Given the description of an element on the screen output the (x, y) to click on. 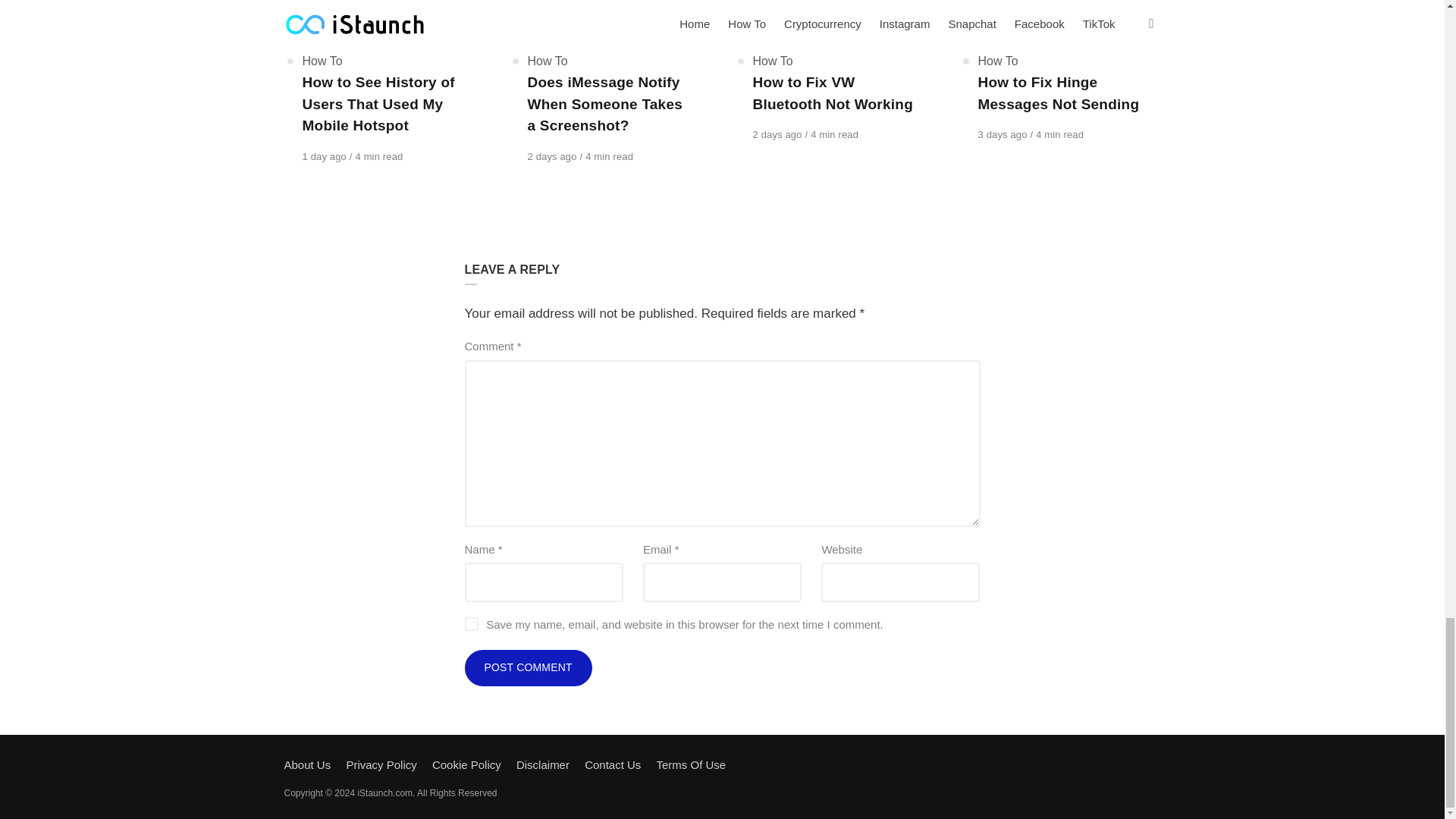
How To (547, 60)
Post Comment (527, 668)
How To (321, 60)
2 days ago (553, 156)
1 day ago (325, 156)
yes (470, 623)
August 28, 2024 (1004, 134)
August 30, 2024 (325, 156)
August 29, 2024 (553, 156)
August 29, 2024 (778, 134)
